Given the description of an element on the screen output the (x, y) to click on. 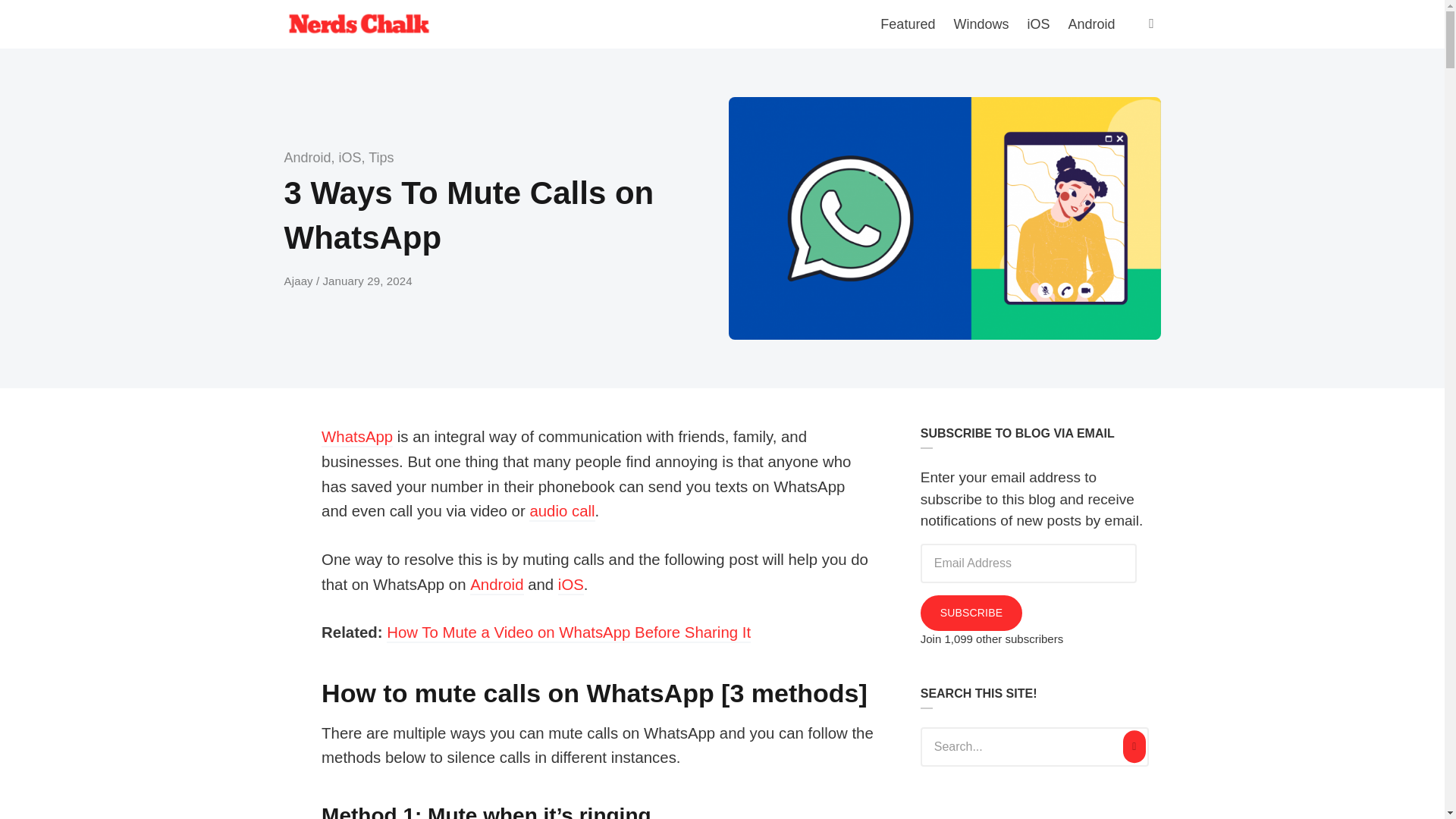
iOS (350, 157)
WhatsApp (357, 437)
iOS (570, 585)
How To Mute a Video on WhatsApp Before Sharing It (569, 633)
Tips (380, 157)
Windows (980, 24)
SUBSCRIBE (971, 613)
Android (496, 585)
audio call (561, 511)
Ajaay (299, 280)
Android (306, 157)
Android (1091, 24)
Featured (906, 24)
